Given the description of an element on the screen output the (x, y) to click on. 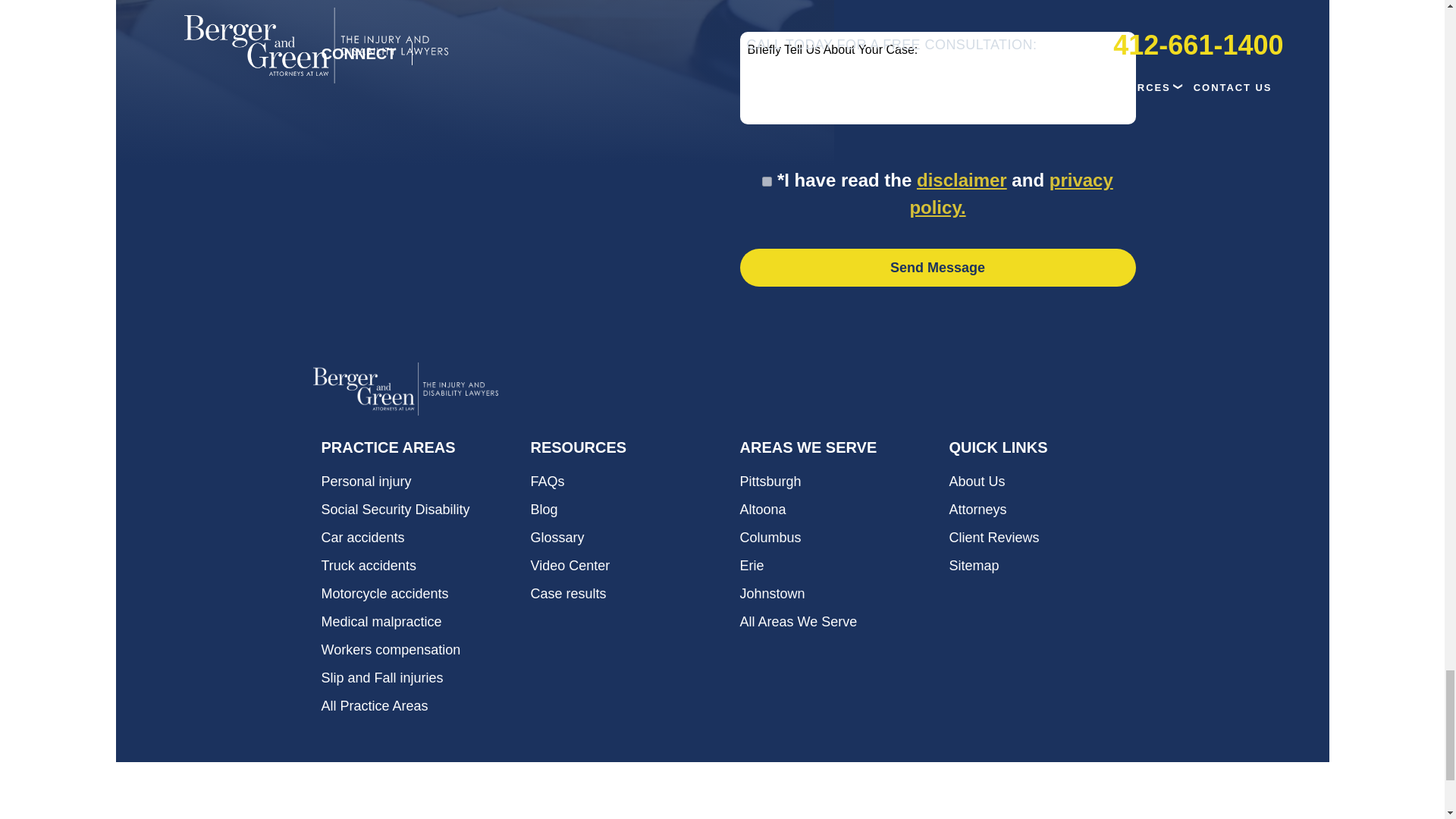
Twitter (467, 54)
Facebook (430, 54)
Send Message (937, 267)
Youtube (539, 54)
LinkedIn (503, 54)
1 (766, 181)
